Given the description of an element on the screen output the (x, y) to click on. 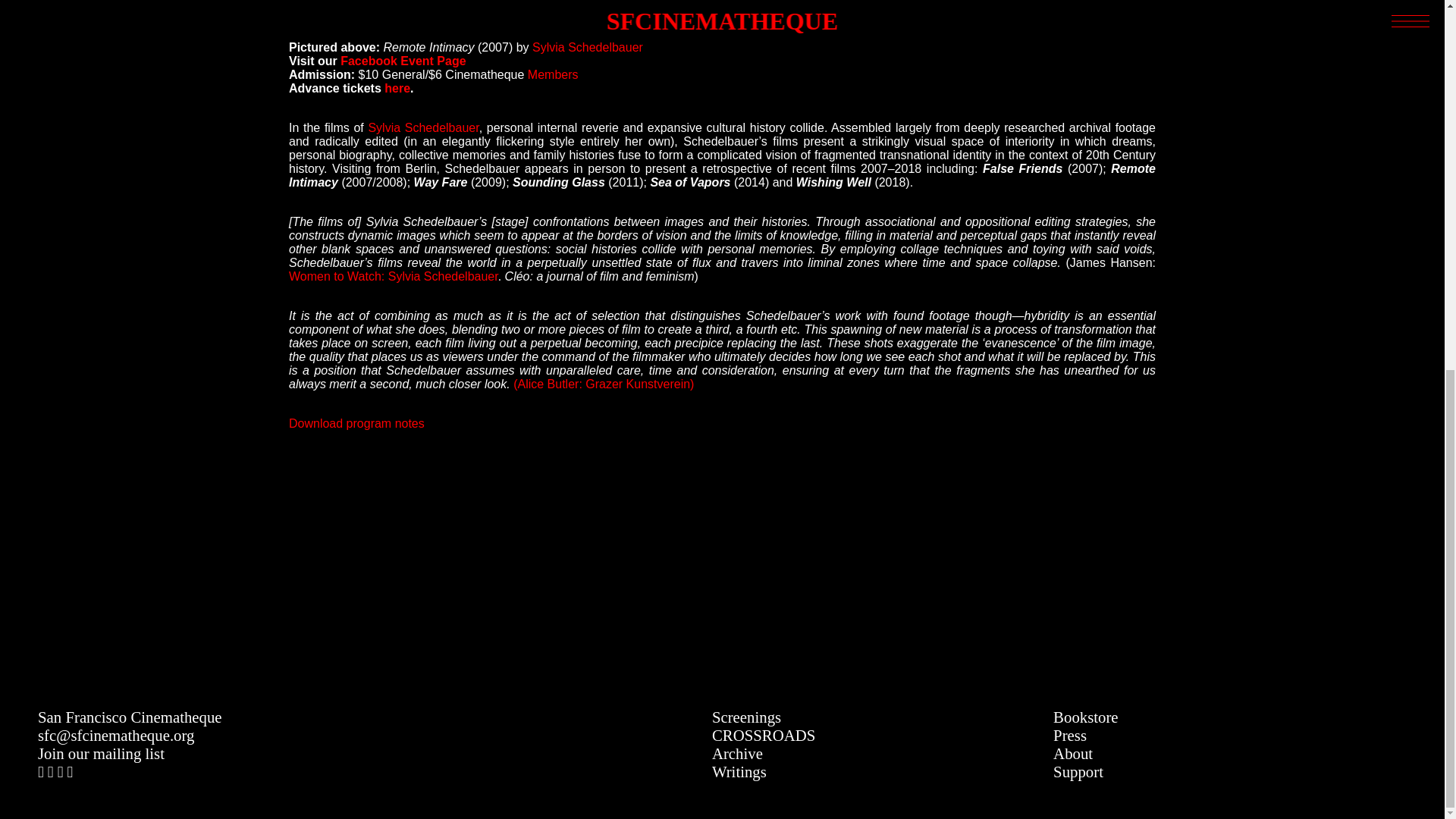
About (1072, 753)
San Francisco Cinematheque (129, 716)
here (397, 88)
Download program notes (356, 422)
Support (1077, 771)
CROSSROADS (763, 734)
Press (1069, 734)
Screenings (745, 716)
Writings (739, 771)
Join our mailing list (100, 753)
